Given the description of an element on the screen output the (x, y) to click on. 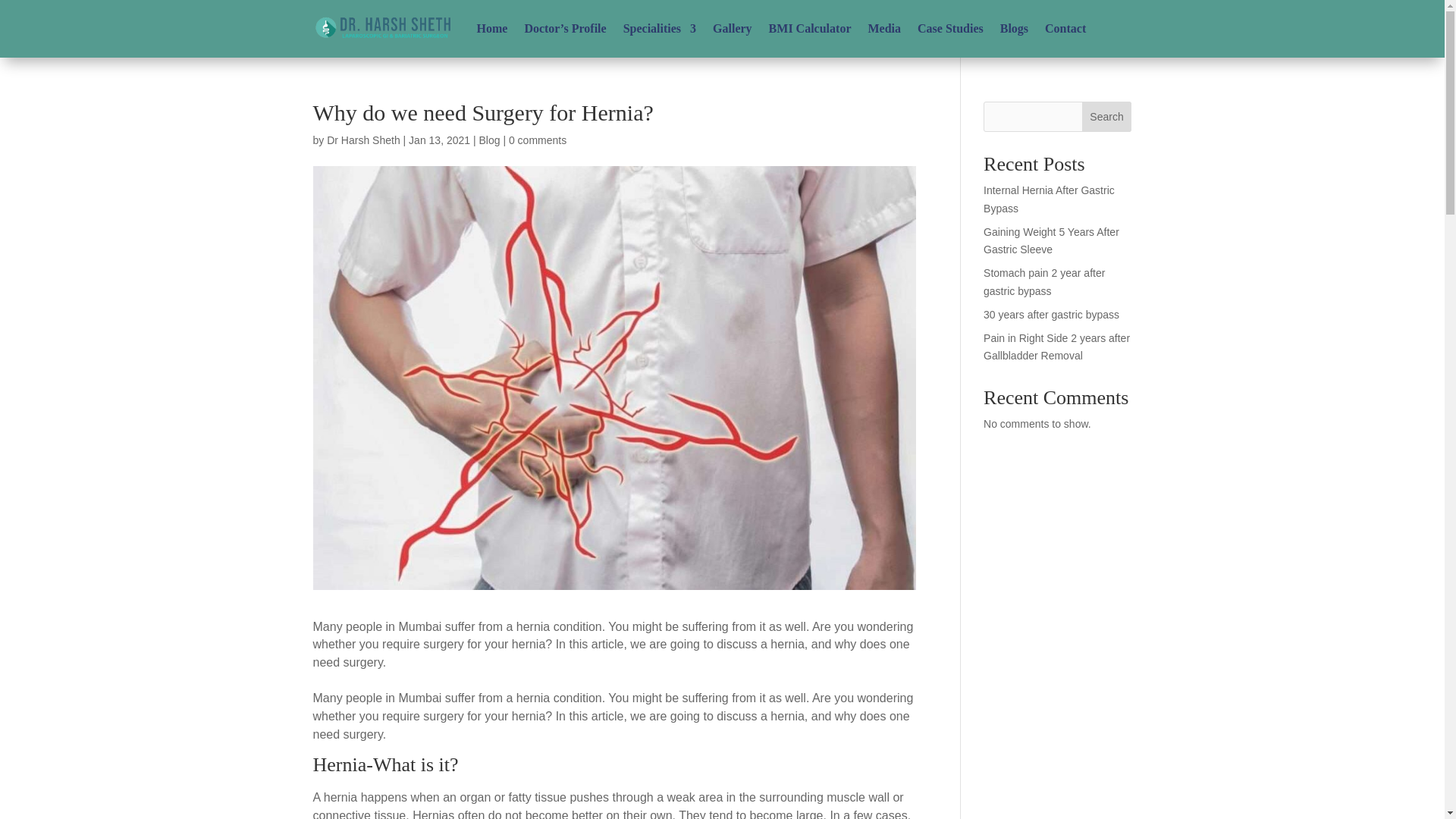
Blog (489, 140)
Case Studies (950, 28)
0 comments (537, 140)
Posts by Dr Harsh Sheth (362, 140)
Dr Harsh Sheth (362, 140)
BMI Calculator (809, 28)
Specialities (659, 28)
